Given the description of an element on the screen output the (x, y) to click on. 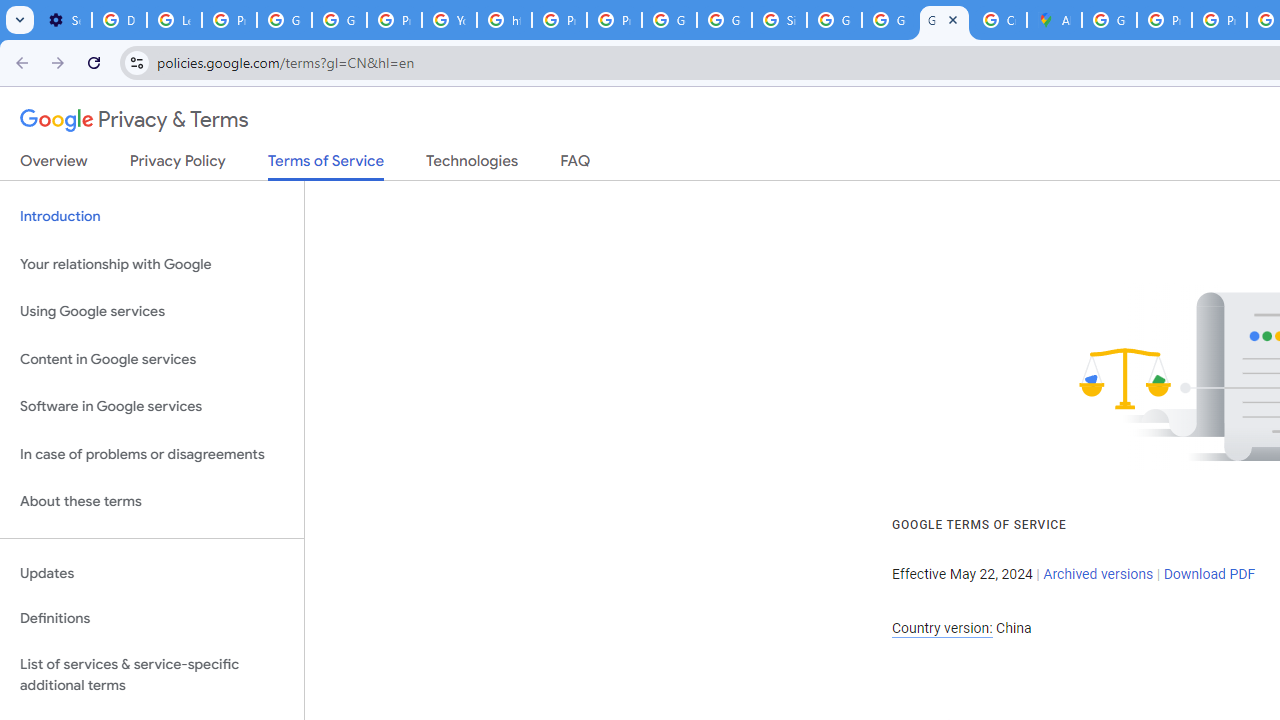
Delete photos & videos - Computer - Google Photos Help (119, 20)
Your relationship with Google (152, 263)
